Given the description of an element on the screen output the (x, y) to click on. 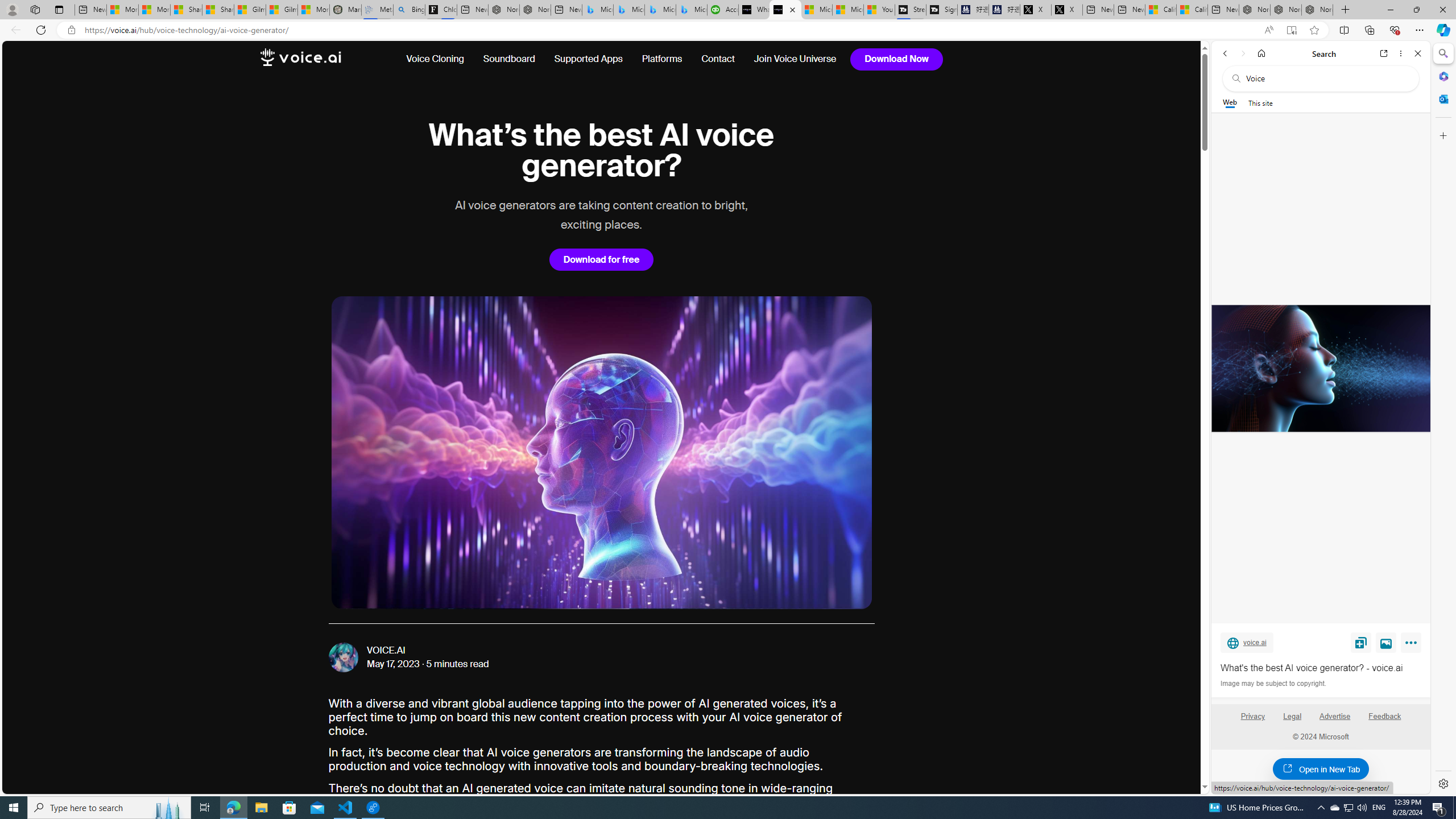
Microsoft Start (847, 9)
Home (1261, 53)
Chloe Sorvino (440, 9)
Download for free (600, 259)
Customize (1442, 135)
Voice Cloning (435, 59)
Forward (1242, 53)
What's the best AI voice generator? - voice.ai (785, 9)
Accounting Software for Accountants, CPAs and Bookkeepers (722, 9)
Advertise (1335, 715)
What's the best AI voice generator? - voice.ai (1320, 667)
Bing Real Estate - Home sales and rental listings (408, 9)
